Given the description of an element on the screen output the (x, y) to click on. 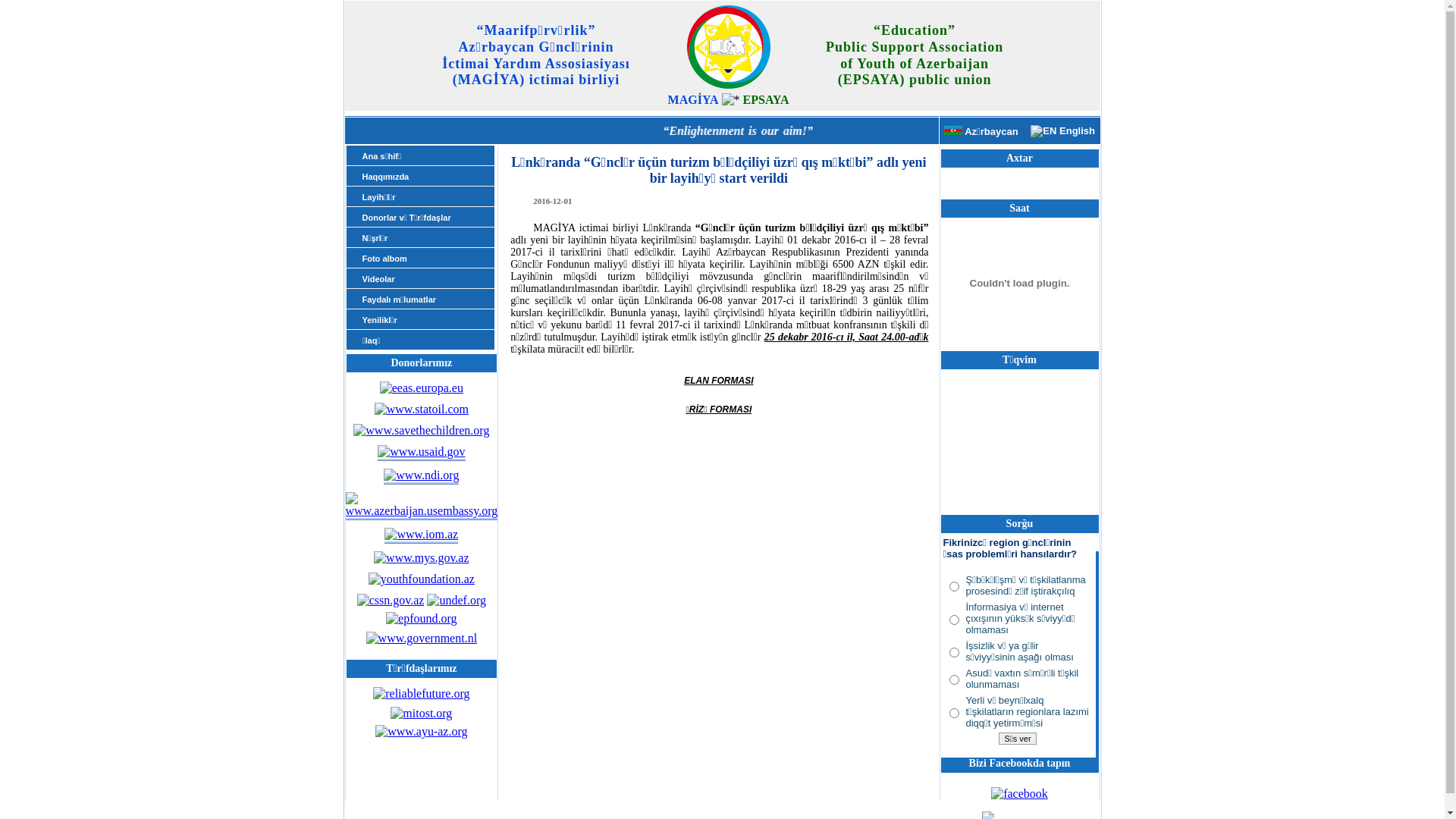
ELAN FORMASI Element type: text (718, 380)
Result Element type: text (1017, 748)
Videolar Element type: text (428, 278)
Foto albom Element type: text (428, 258)
 English Element type: text (1062, 129)
